Given the description of an element on the screen output the (x, y) to click on. 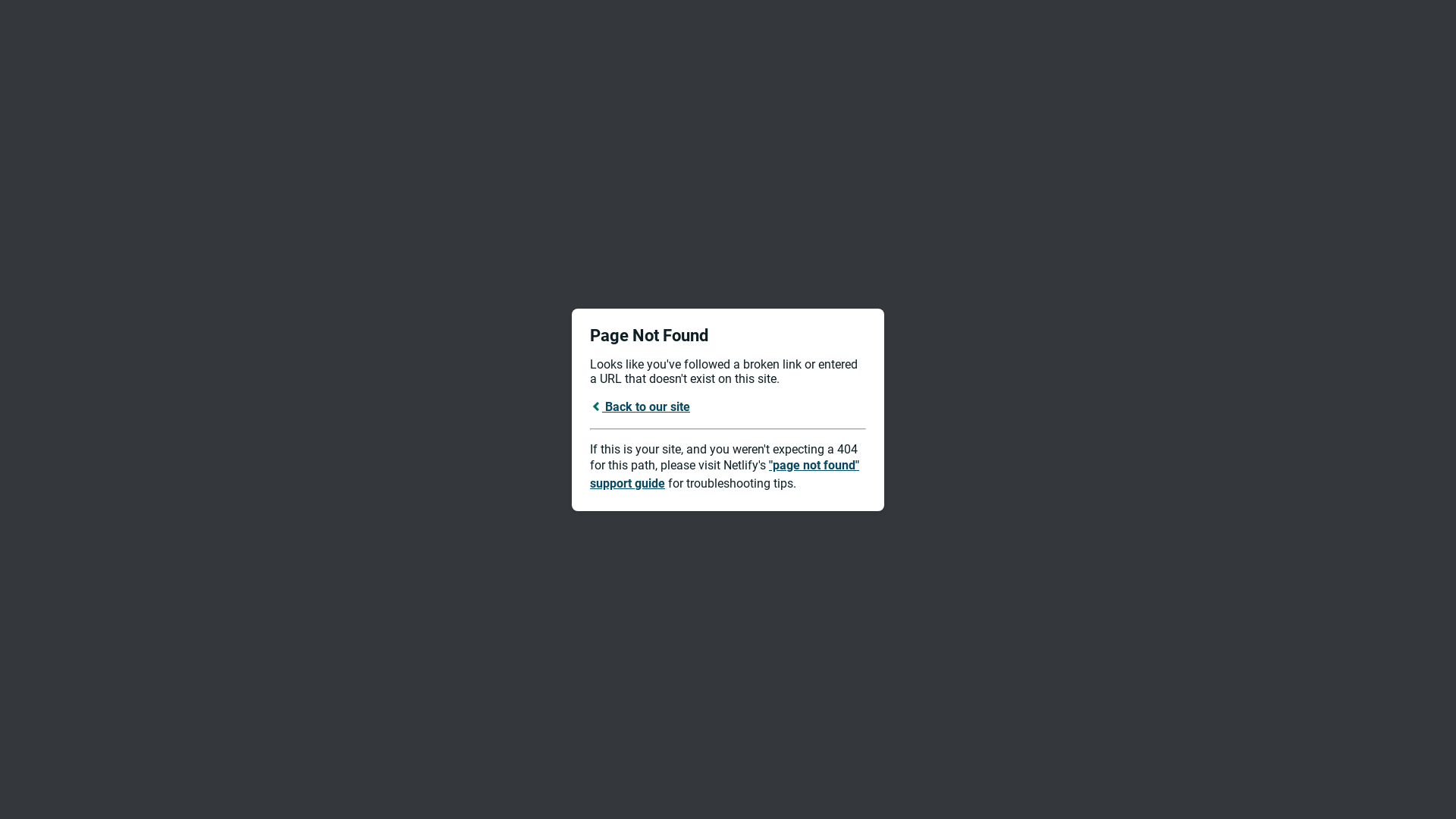
Back to our site Element type: text (639, 405)
"page not found" support guide Element type: text (724, 474)
